Given the description of an element on the screen output the (x, y) to click on. 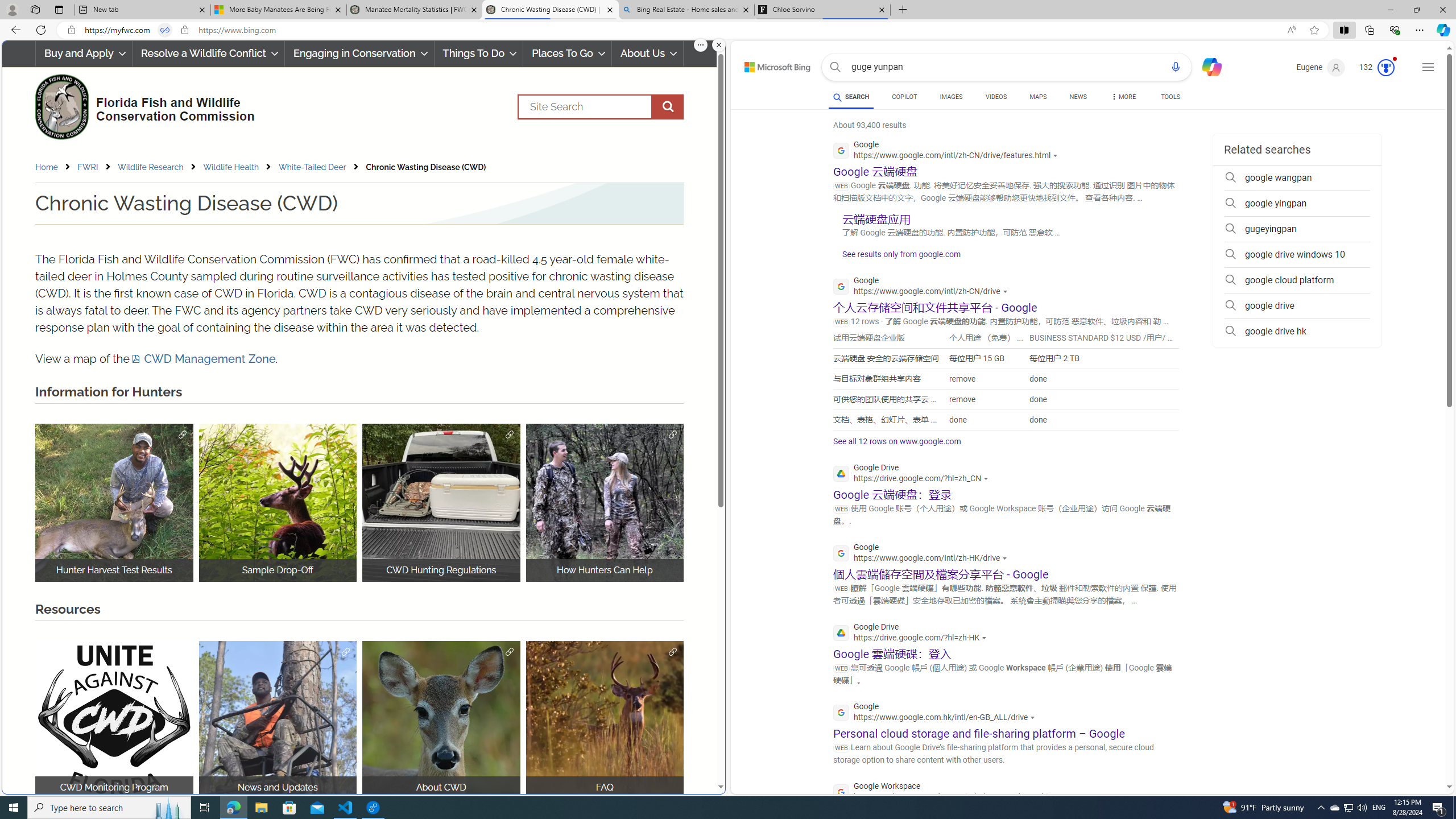
execute site search (667, 106)
FWRI (88, 166)
IMAGES (950, 96)
NEWS (1078, 98)
Chat (1207, 65)
Class: medal-svg-animation (1385, 67)
Wildlife Research (158, 166)
White-Tailed Deer (321, 166)
TOOLS (1171, 98)
google drive (1297, 305)
